Given the description of an element on the screen output the (x, y) to click on. 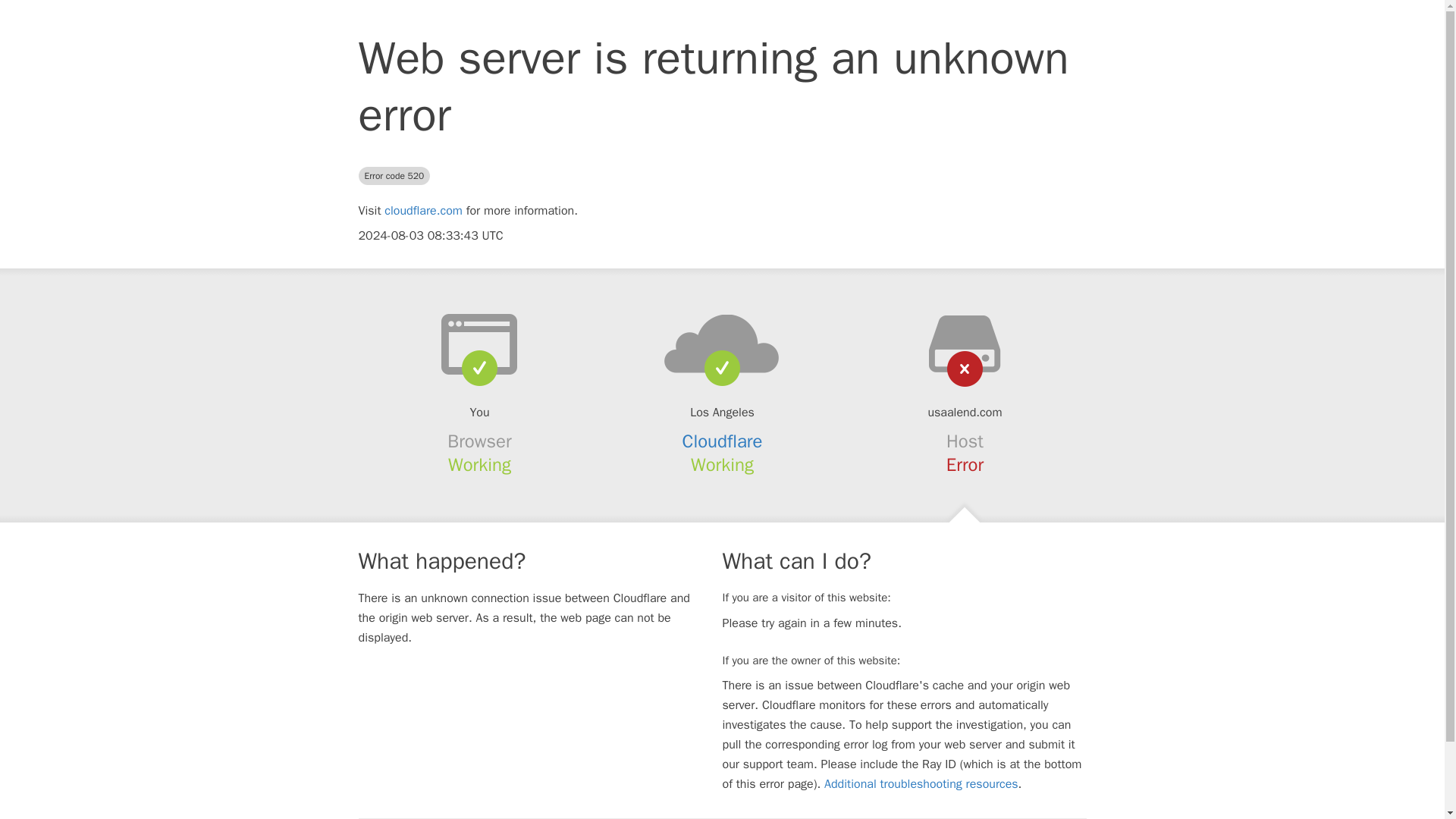
Cloudflare (722, 440)
Additional troubleshooting resources (920, 783)
cloudflare.com (423, 210)
